Given the description of an element on the screen output the (x, y) to click on. 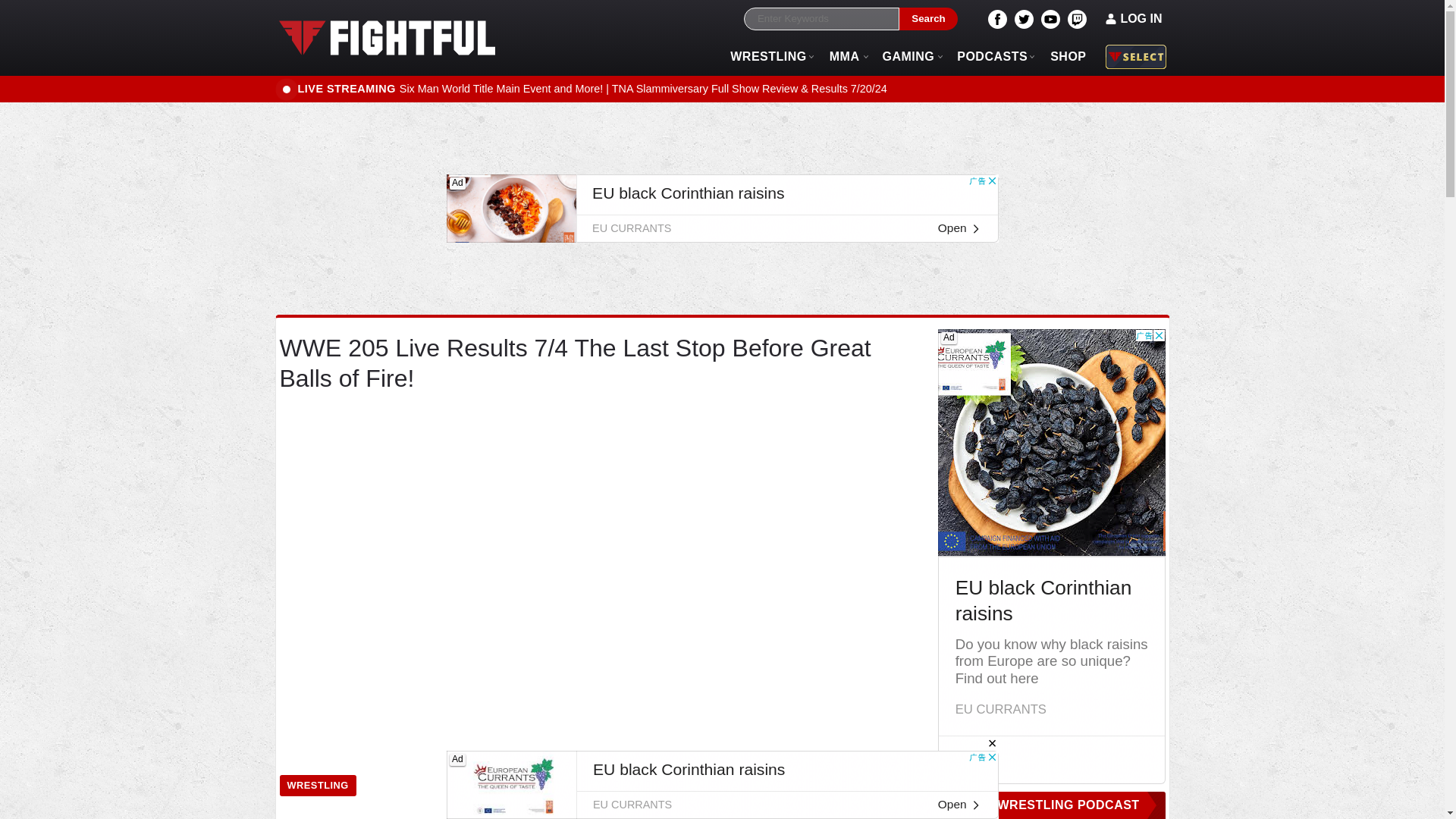
WRESTLING (768, 56)
Search (928, 19)
GAMING (907, 56)
3rd party ad content (721, 208)
PODCASTS (991, 56)
LOG IN (1134, 18)
SHOP (1068, 56)
MMA (844, 56)
3rd party ad content (721, 785)
WRESTLING (317, 785)
